Given the description of an element on the screen output the (x, y) to click on. 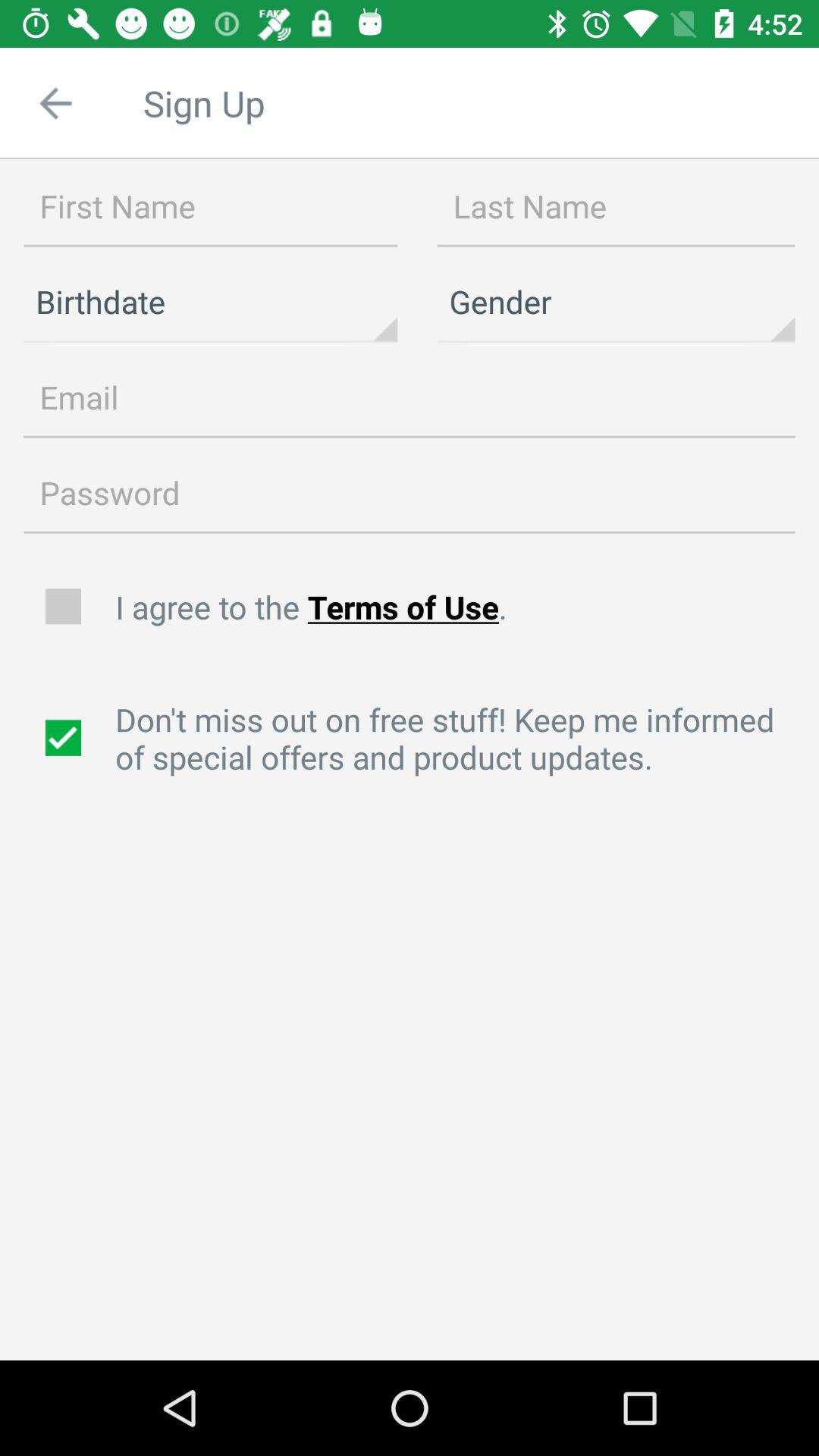
launch item above the i agree to icon (409, 493)
